Given the description of an element on the screen output the (x, y) to click on. 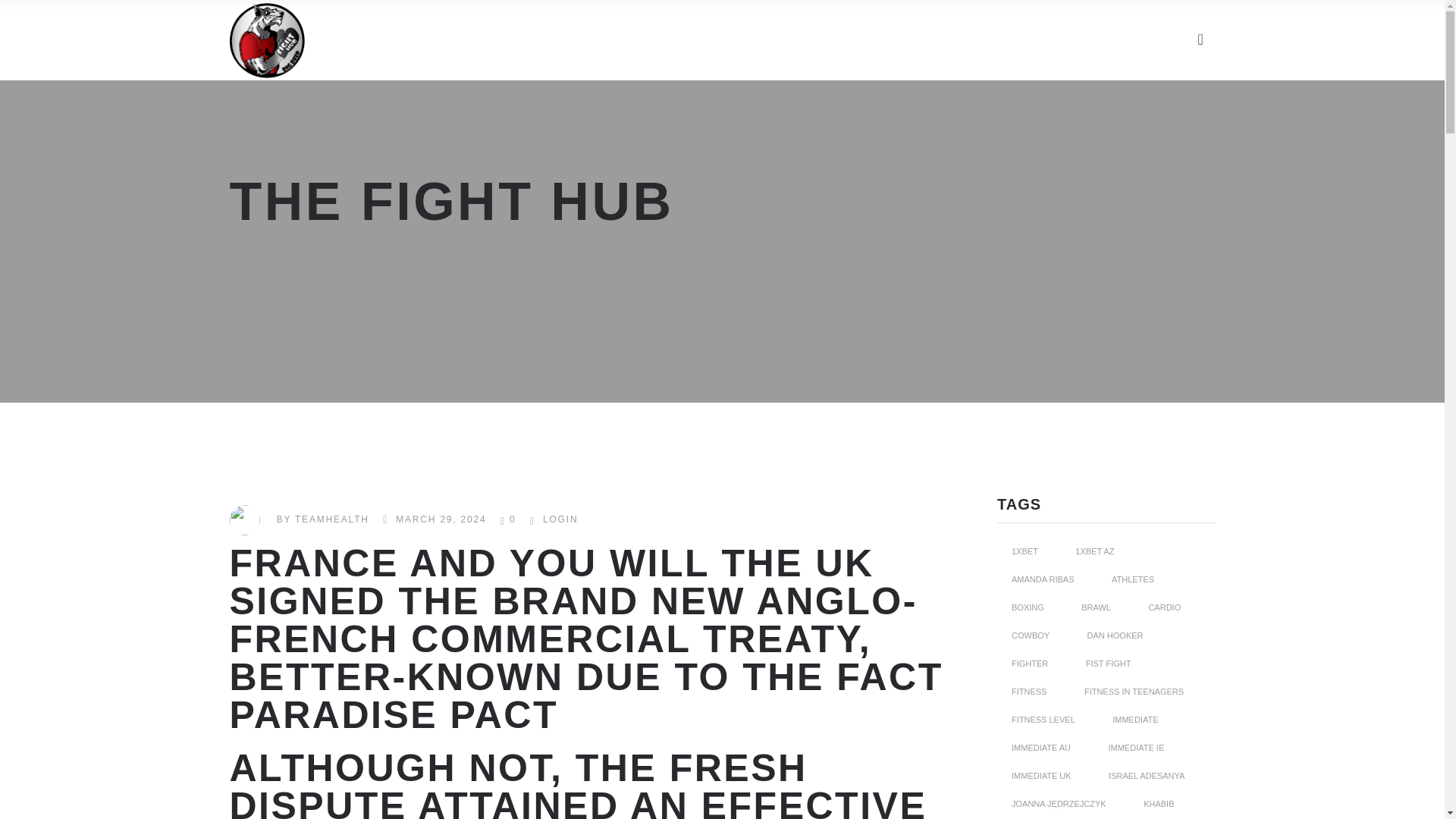
OUR JOURNAL (984, 40)
ABOUT (465, 40)
CONTACT US (1120, 40)
TIME TABLE (776, 40)
BLOG (876, 40)
GALLERY (663, 40)
HOME (384, 40)
CLASSES (559, 40)
